Given the description of an element on the screen output the (x, y) to click on. 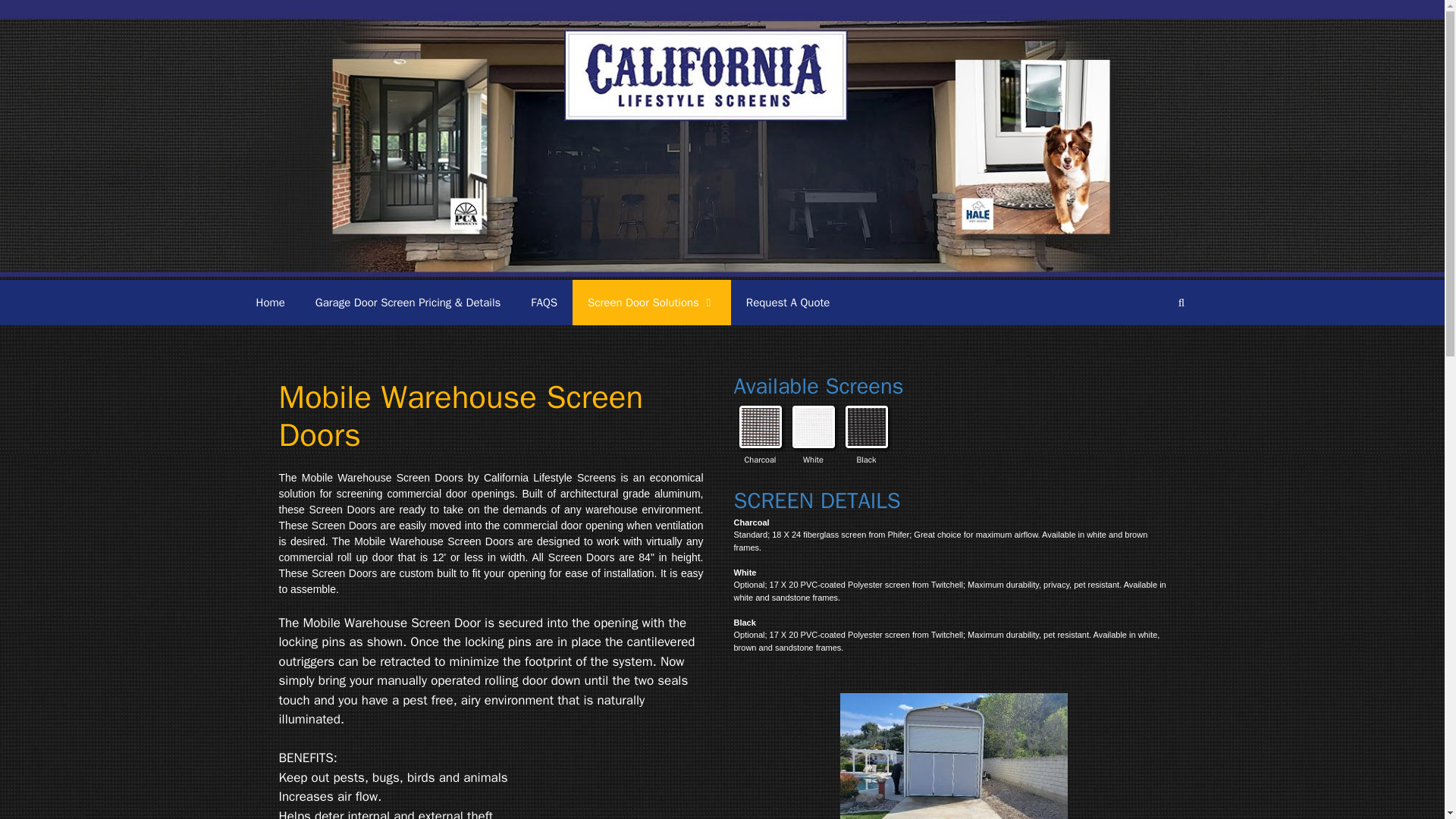
Home (270, 302)
Request A Quote (787, 302)
FAQS (543, 302)
Screen Door Solutions (651, 302)
